Given the description of an element on the screen output the (x, y) to click on. 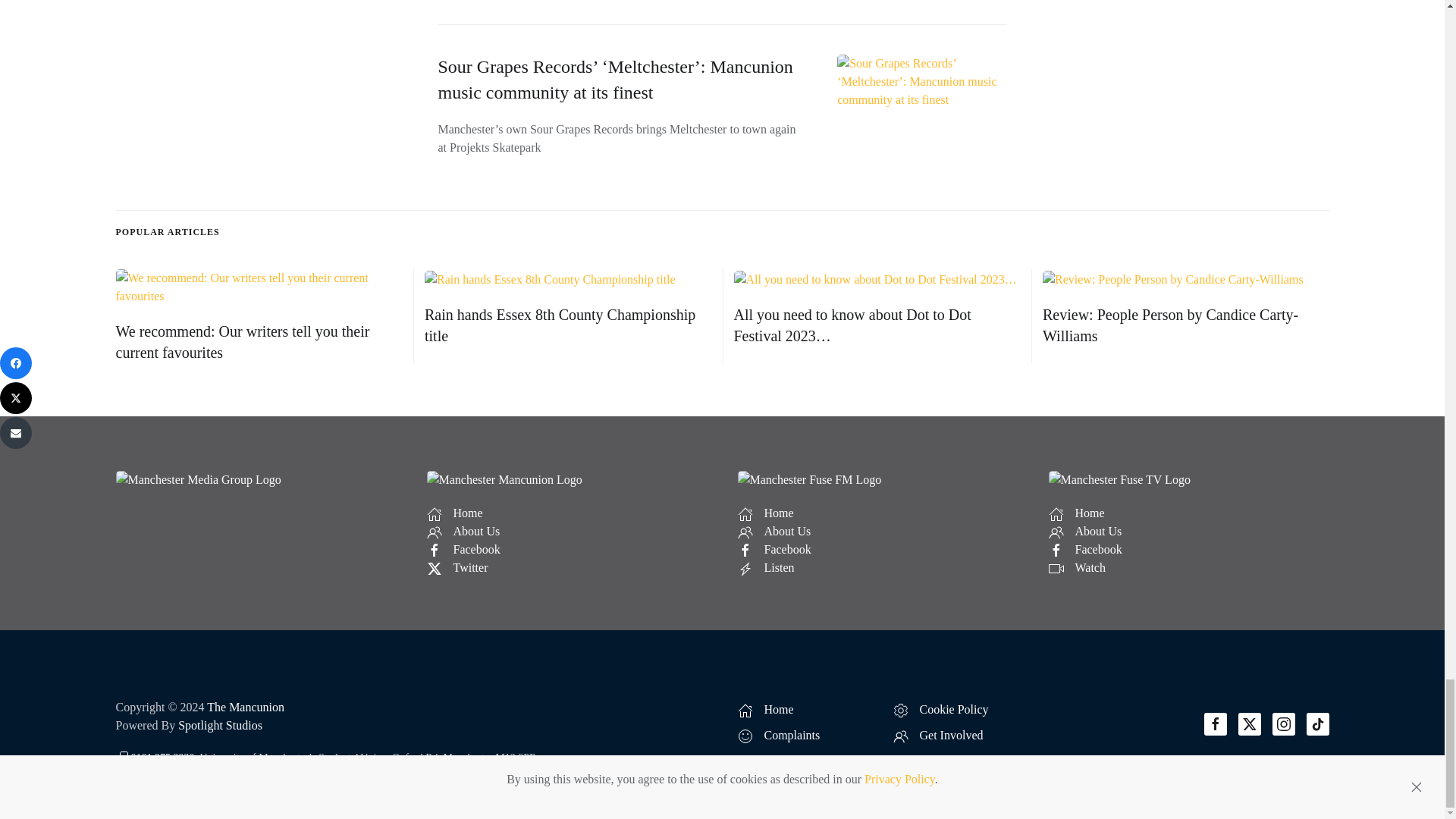
The Mancunion (244, 707)
Web Design by Spotlight Studios (219, 725)
